Given the description of an element on the screen output the (x, y) to click on. 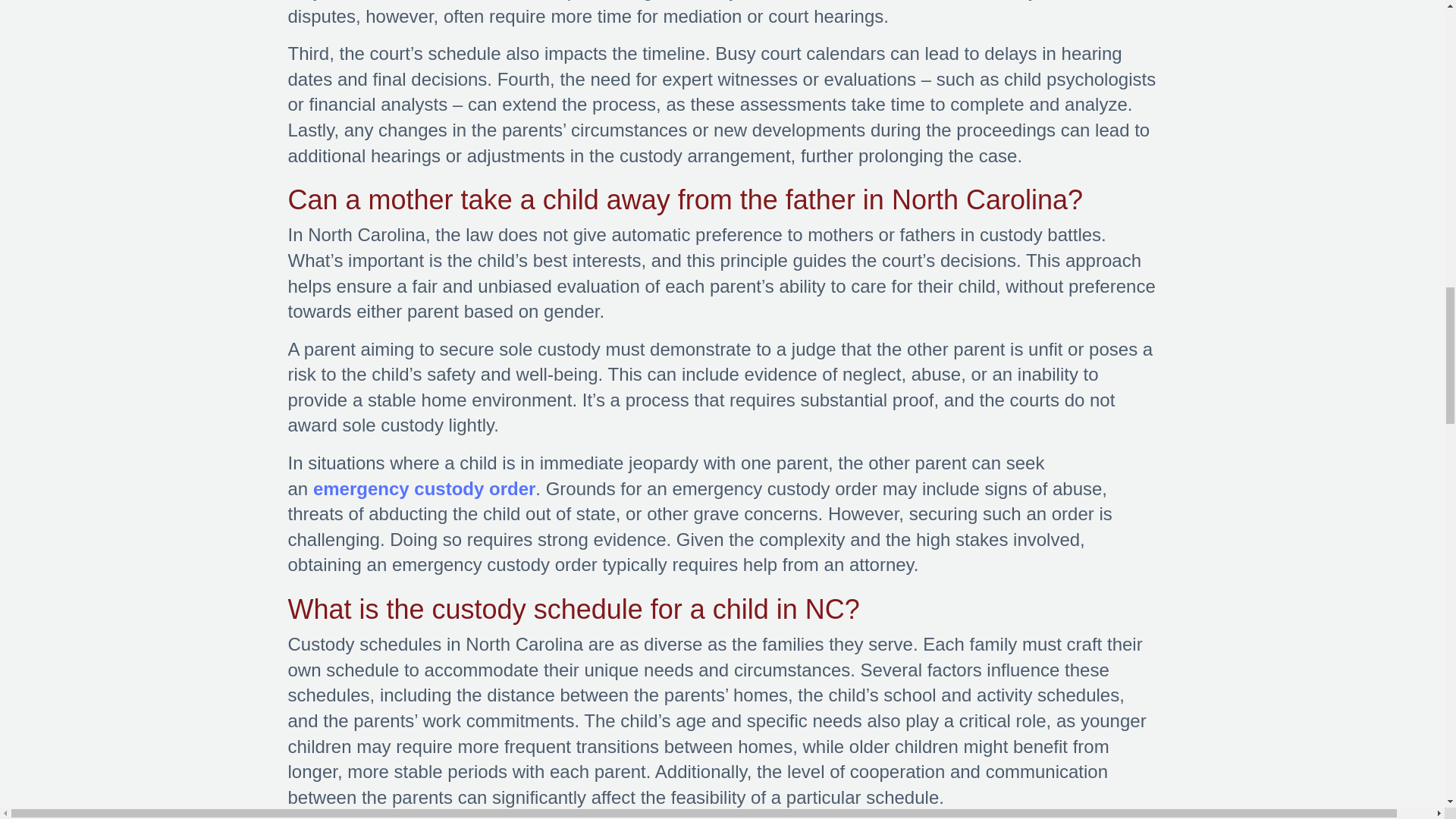
emergency custody order (424, 488)
emergency custody order (424, 488)
